Given the description of an element on the screen output the (x, y) to click on. 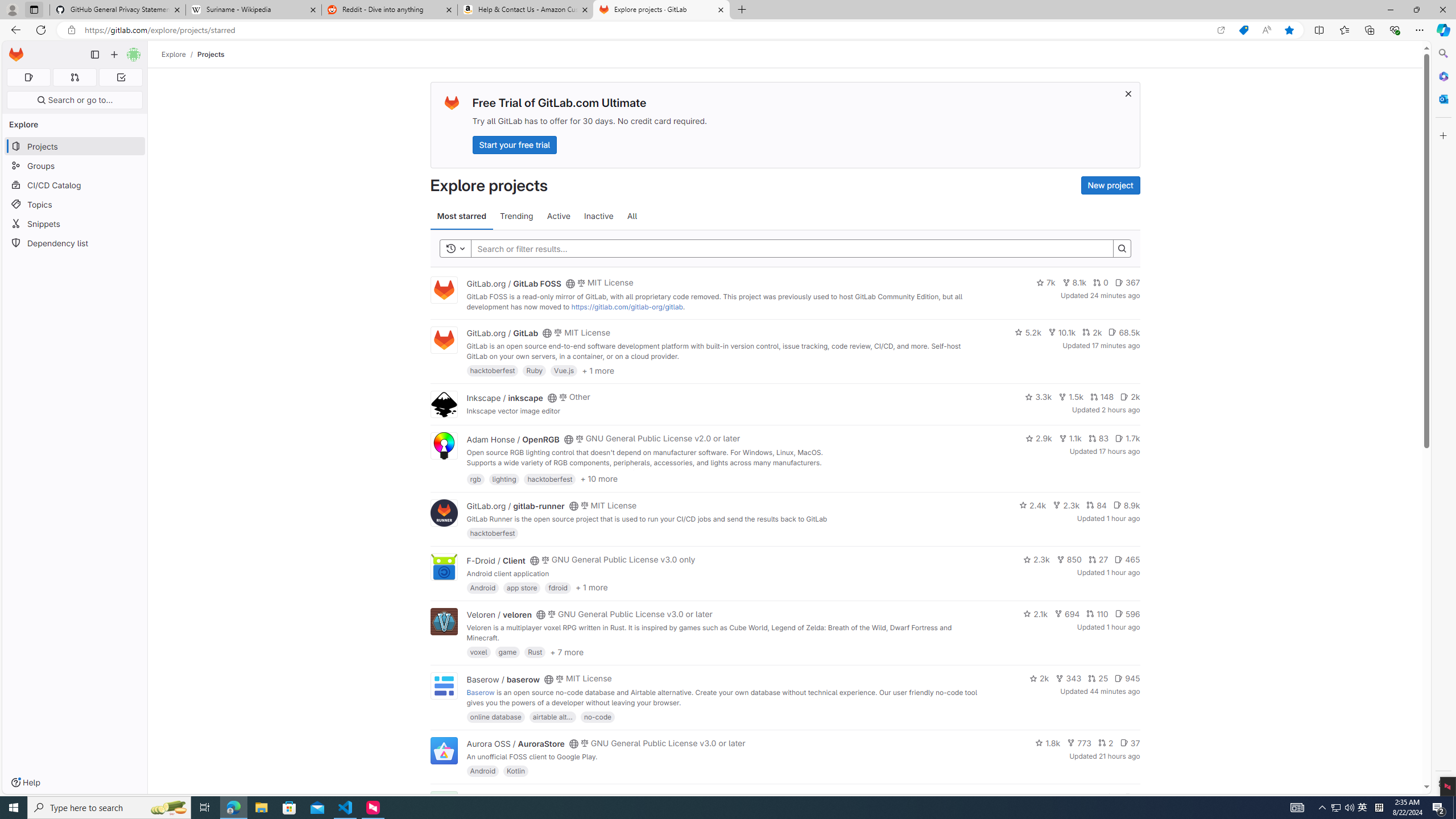
Edouard Klein / falsisign (512, 797)
68.5k (1124, 331)
5.2k (1027, 331)
Dependency list (74, 242)
Close Outlook pane (1442, 98)
3.3k (1038, 396)
hacktoberfest (492, 533)
Android (482, 770)
